Given the description of an element on the screen output the (x, y) to click on. 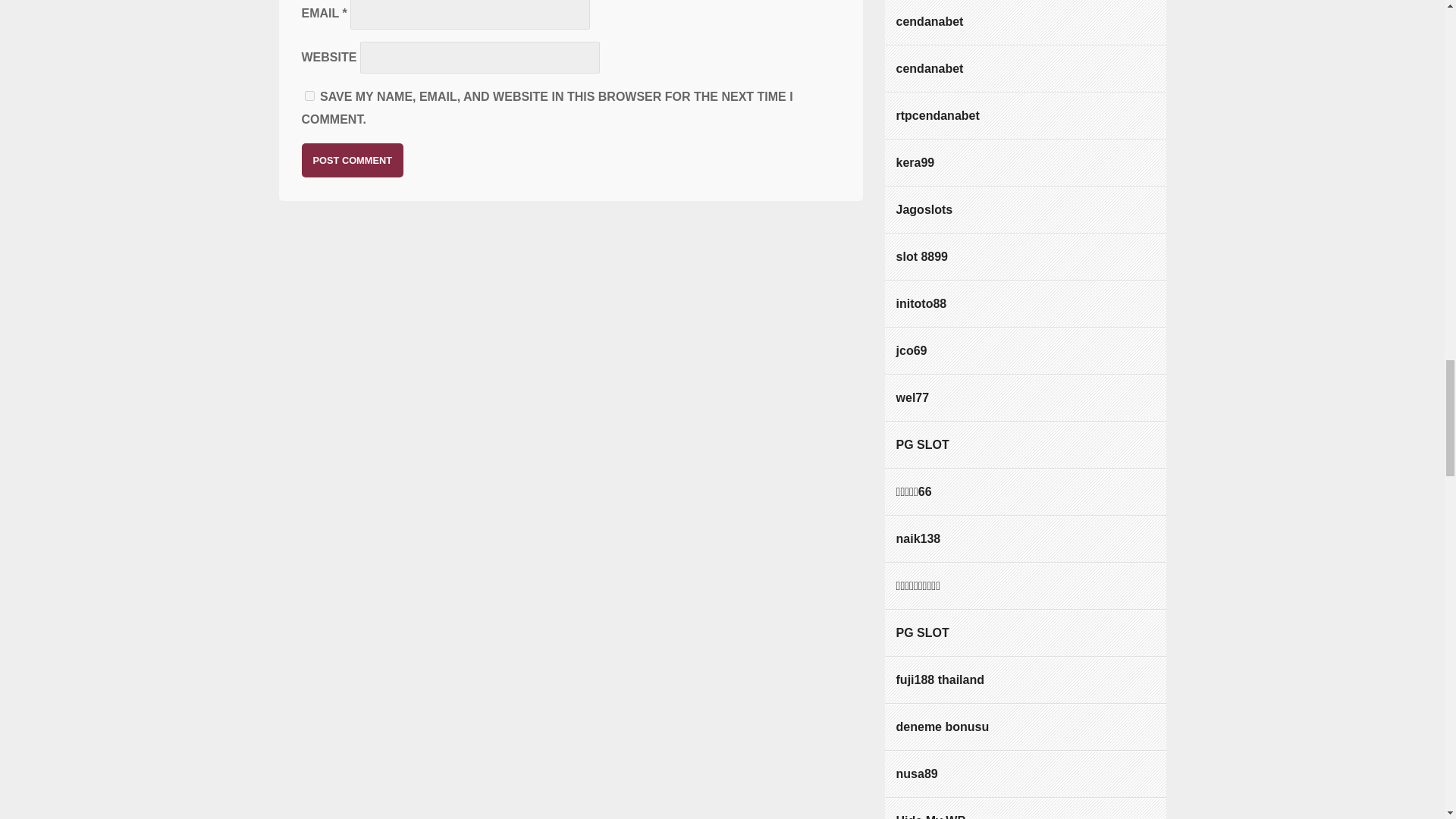
Post Comment (352, 160)
yes (309, 95)
Post Comment (352, 160)
